Given the description of an element on the screen output the (x, y) to click on. 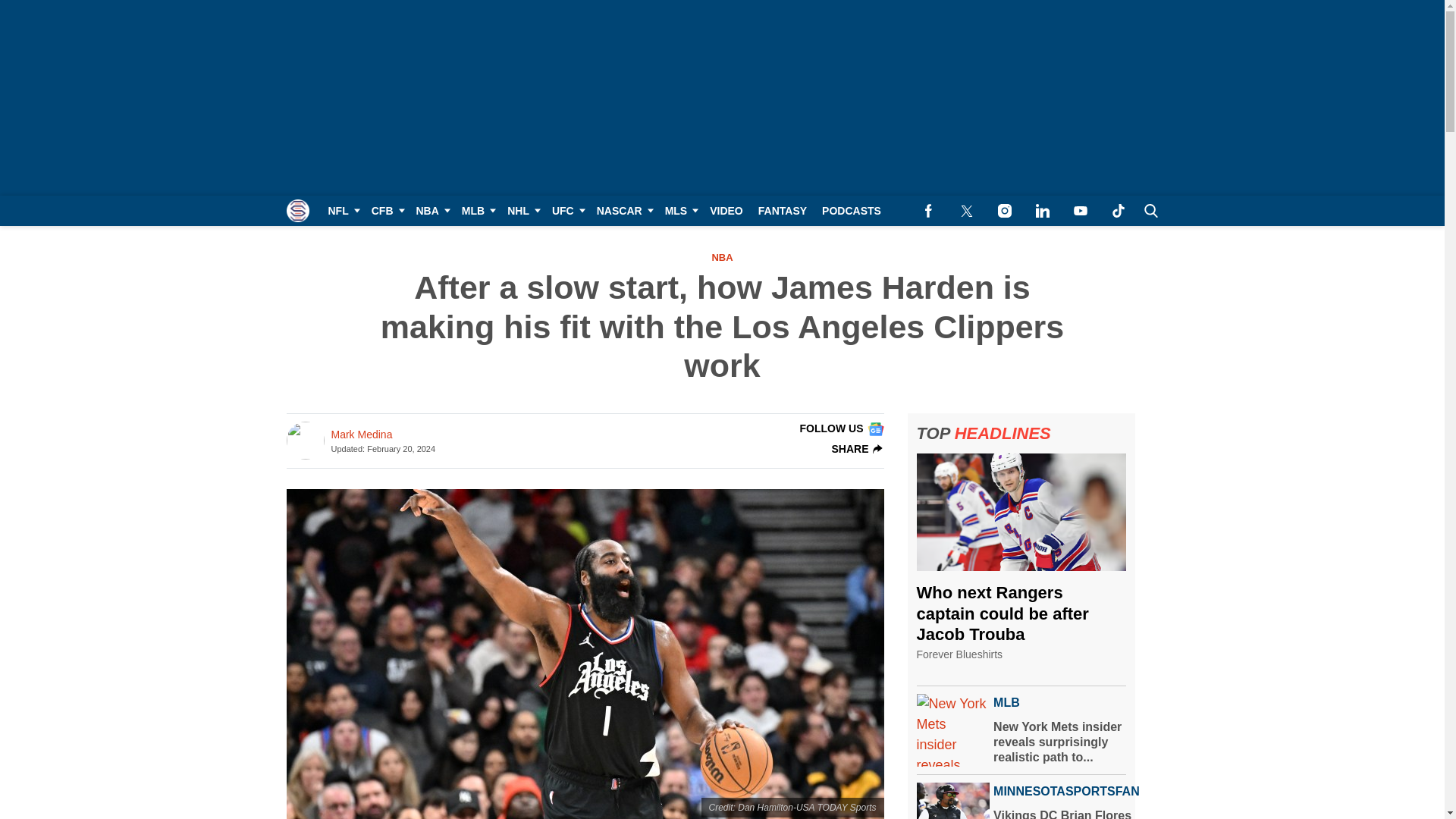
Subscribe to our YouTube channel (1080, 210)
Subscribe to our TikTok channel (1118, 210)
NBA (429, 210)
Follow us on Facebook (928, 210)
UFC (566, 210)
MLB (476, 210)
Posts by Mark Medina (360, 434)
Follow us on Twitter (966, 210)
NHL (521, 210)
Follow us on Instagram (1004, 210)
